Given the description of an element on the screen output the (x, y) to click on. 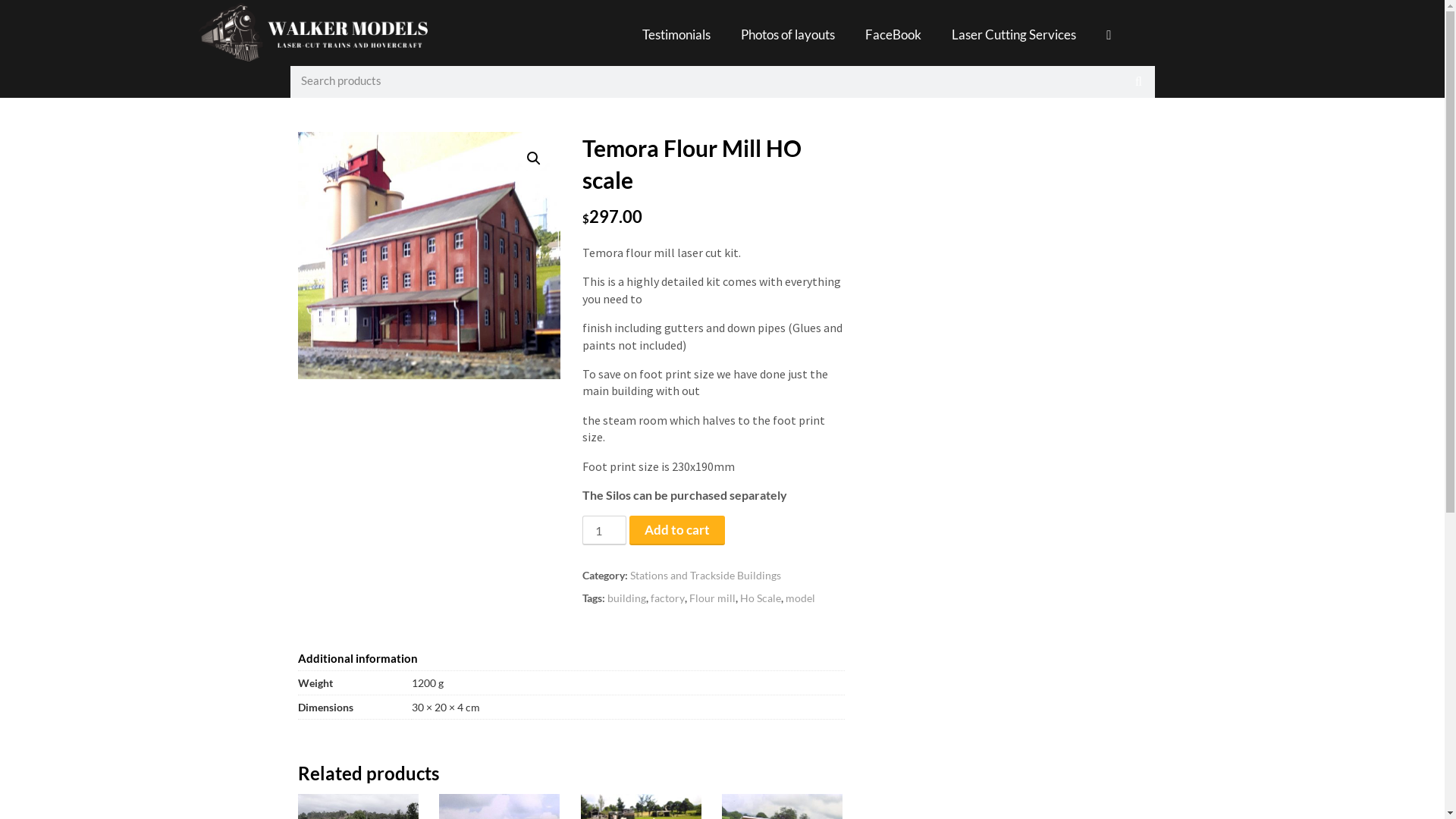
FaceBook Element type: text (893, 34)
Add to cart Element type: text (676, 530)
Temora flour mill with silo in background Element type: hover (428, 255)
Ho Scale Element type: text (760, 597)
Testimonials Element type: text (676, 34)
Qty Element type: hover (604, 530)
Search Element type: hover (705, 80)
factory Element type: text (667, 597)
building Element type: text (626, 597)
Photos of layouts Element type: text (787, 34)
Laser Cutting Services Element type: text (1013, 34)
Stations and Trackside Buildings Element type: text (705, 574)
model Element type: text (800, 597)
Flour mill Element type: text (712, 597)
